Given the description of an element on the screen output the (x, y) to click on. 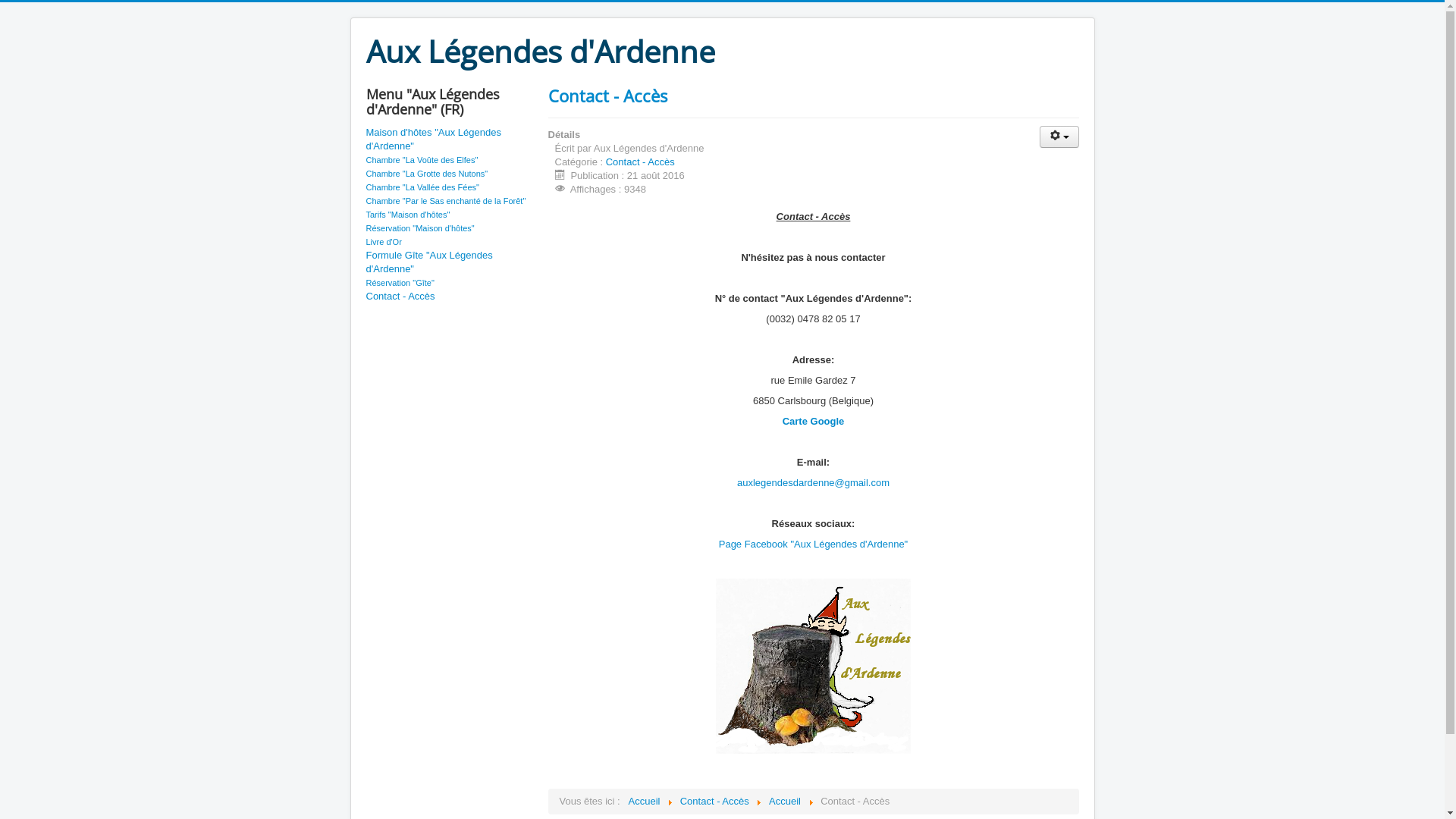
Accueil Element type: text (784, 800)
auxlegendesdardenne@gmail.com Element type: text (813, 482)
Chambre "La Grotte des Nutons" Element type: text (426, 173)
Livre d'Or Element type: text (383, 241)
Accueil Element type: text (644, 800)
Carte Google Element type: text (813, 420)
